Given the description of an element on the screen output the (x, y) to click on. 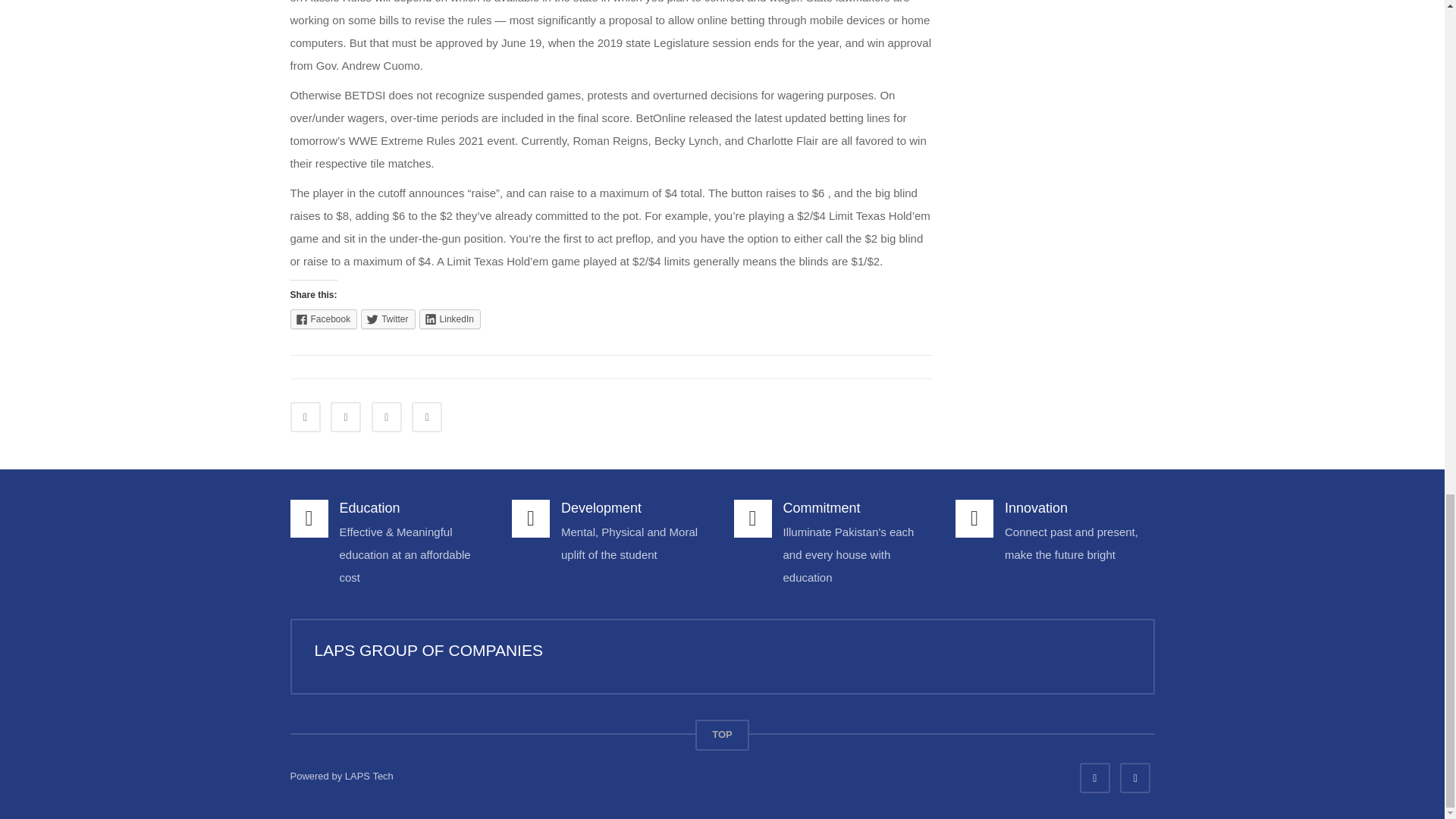
Share on Twitter (345, 417)
Click to share on LinkedIn (449, 319)
LinkedIn (449, 319)
Share on LinkedIn (386, 417)
Click to share on Facebook (322, 319)
Share on Facebook (304, 417)
Twitter (387, 319)
Facebook (322, 319)
Share on Google Plus (427, 417)
Click to share on Twitter (387, 319)
